Given the description of an element on the screen output the (x, y) to click on. 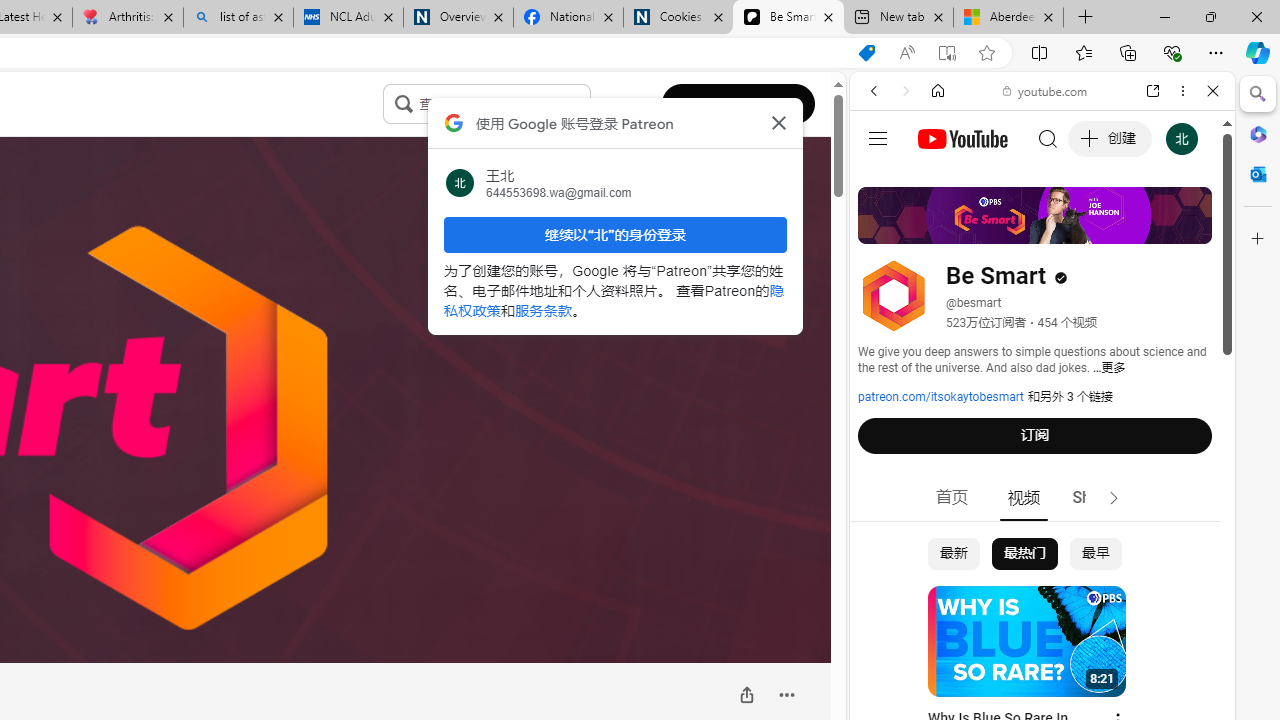
Trailer #2 [HD] (1042, 592)
Global web icon (888, 288)
Close Outlook pane (1258, 174)
This site scope (936, 180)
Music (1042, 543)
Class: style-scope tp-yt-iron-icon (1114, 498)
Be Smart | creating Science videos | Patreon (788, 17)
Arthritis: Ask Health Professionals (128, 17)
#you (1042, 445)
